Given the description of an element on the screen output the (x, y) to click on. 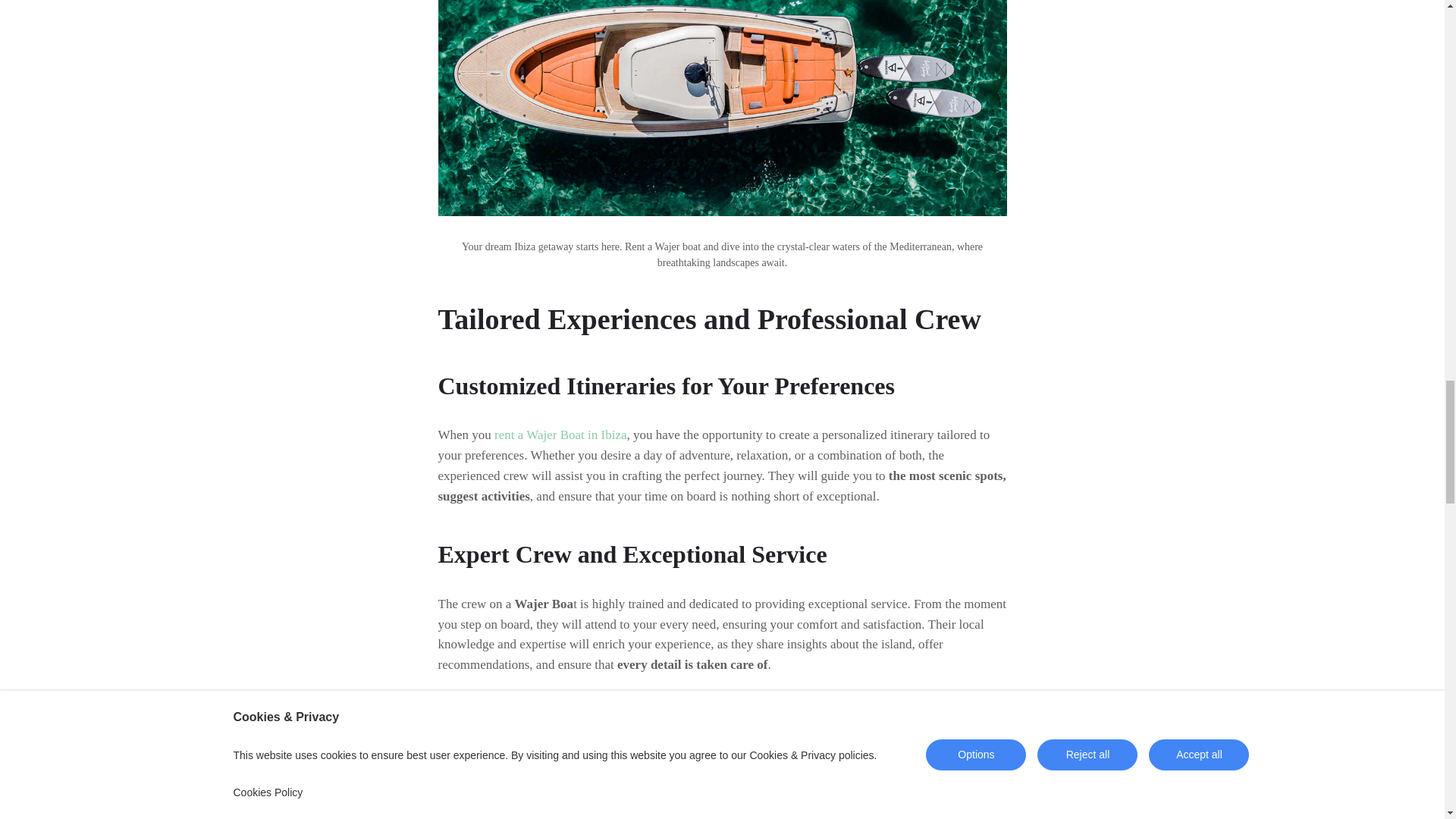
rent wajer boat ibiza (560, 434)
rent a Wajer Boat in Ibiza (560, 434)
